Given the description of an element on the screen output the (x, y) to click on. 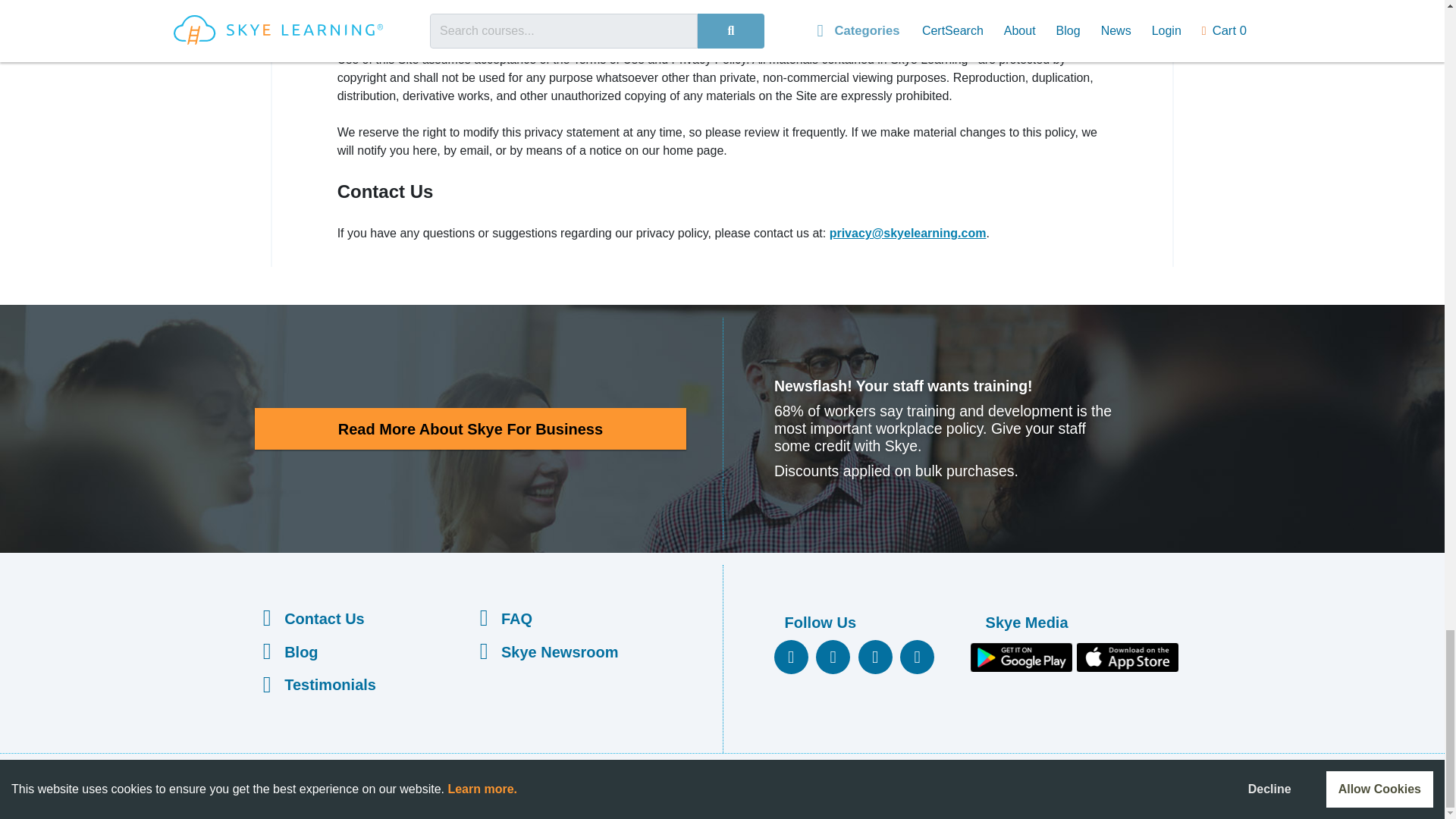
Linkedin Social Link (916, 656)
App Store (1129, 658)
Instagram Social Link (875, 656)
Twitter Social Link (832, 656)
Facebook Social Link (791, 656)
Google Play (1024, 658)
